Given the description of an element on the screen output the (x, y) to click on. 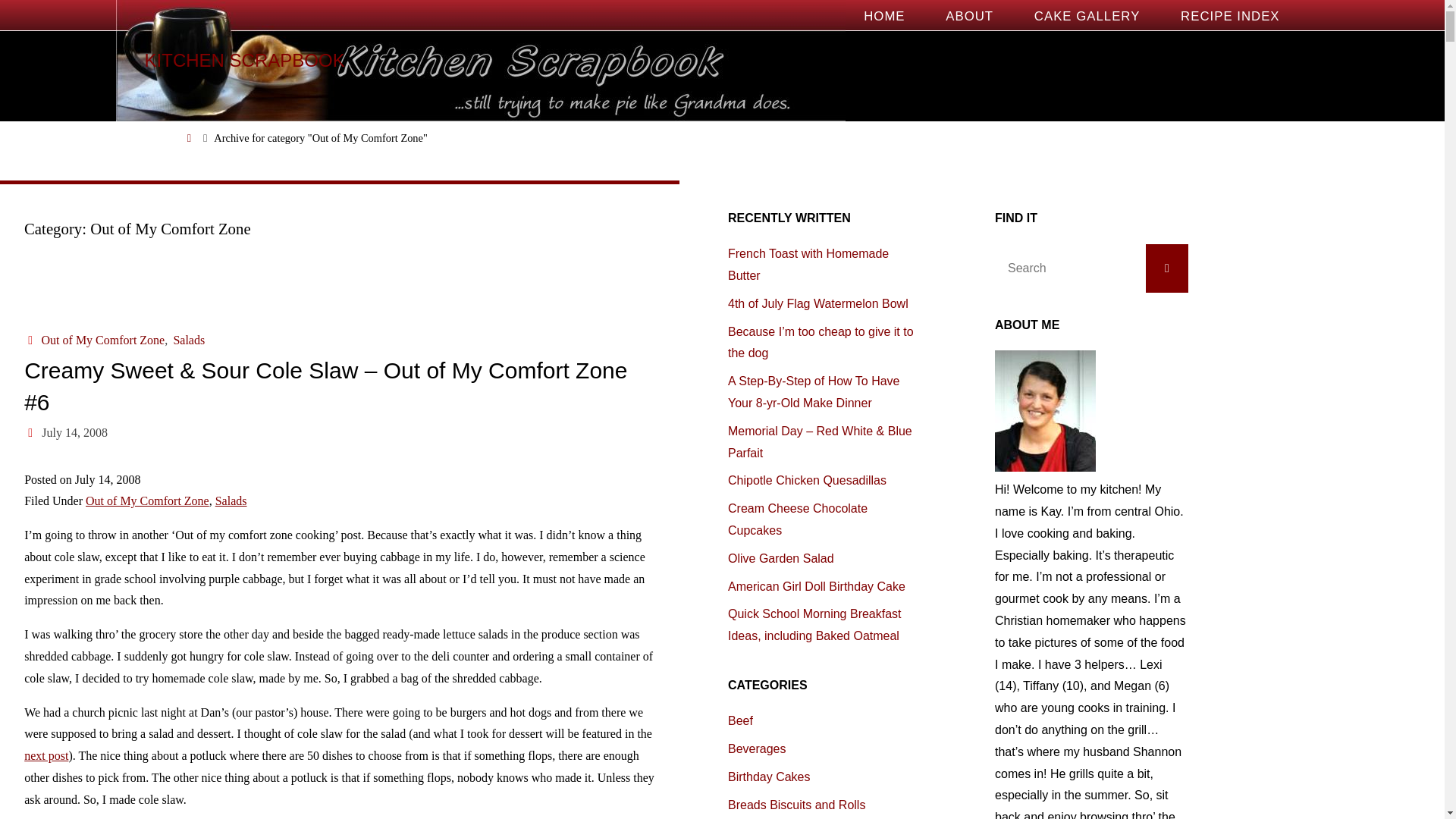
next post (46, 755)
HOME (883, 15)
Salads (231, 500)
Recipes and Cooking Ideas for Homemakers and Amateur Cooks (244, 60)
Out of My Comfort Zone (147, 500)
Recipe for Butter Pecan Turtle Bars (46, 755)
CAKE GALLERY (1086, 15)
RECIPE INDEX (1230, 15)
Salads (187, 339)
Out of My Comfort Zone (101, 339)
